Given the description of an element on the screen output the (x, y) to click on. 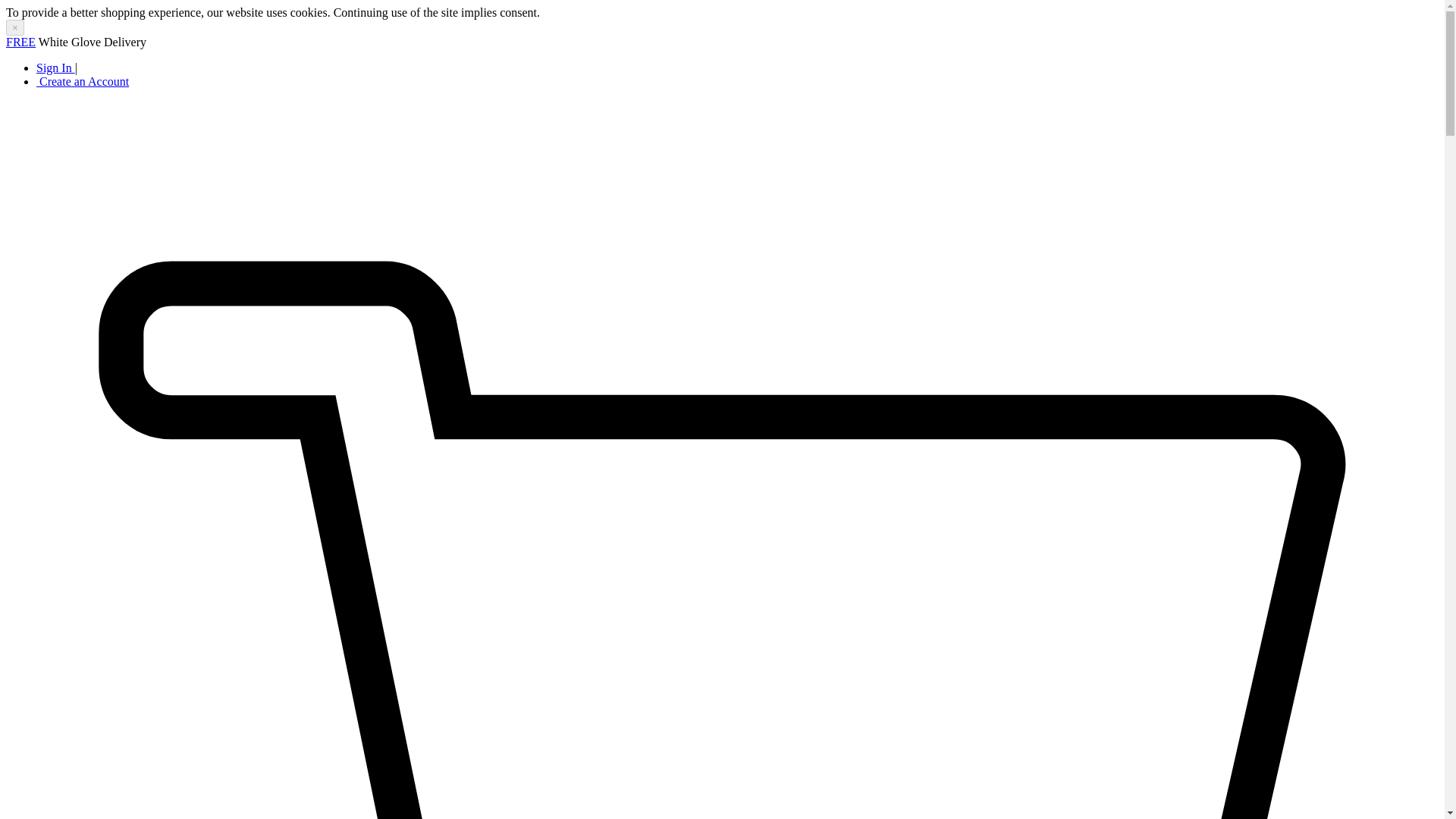
Sign In (55, 67)
 Create an Account (82, 81)
FREE (19, 42)
